Given the description of an element on the screen output the (x, y) to click on. 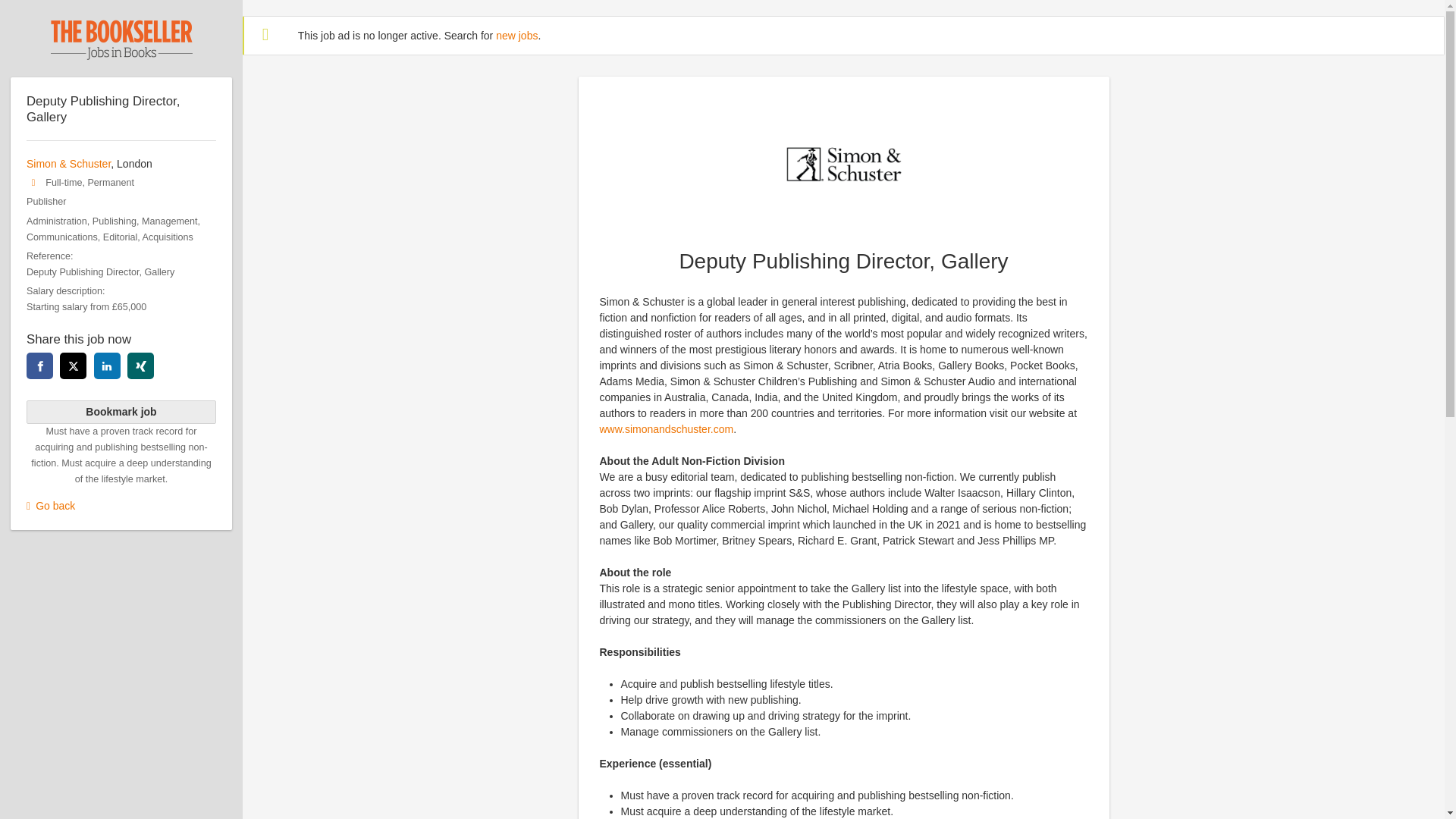
new jobs (516, 35)
Go back (120, 505)
Bookmark job (120, 412)
www.simonandschuster.com (665, 428)
Bookmark job (120, 412)
